Given the description of an element on the screen output the (x, y) to click on. 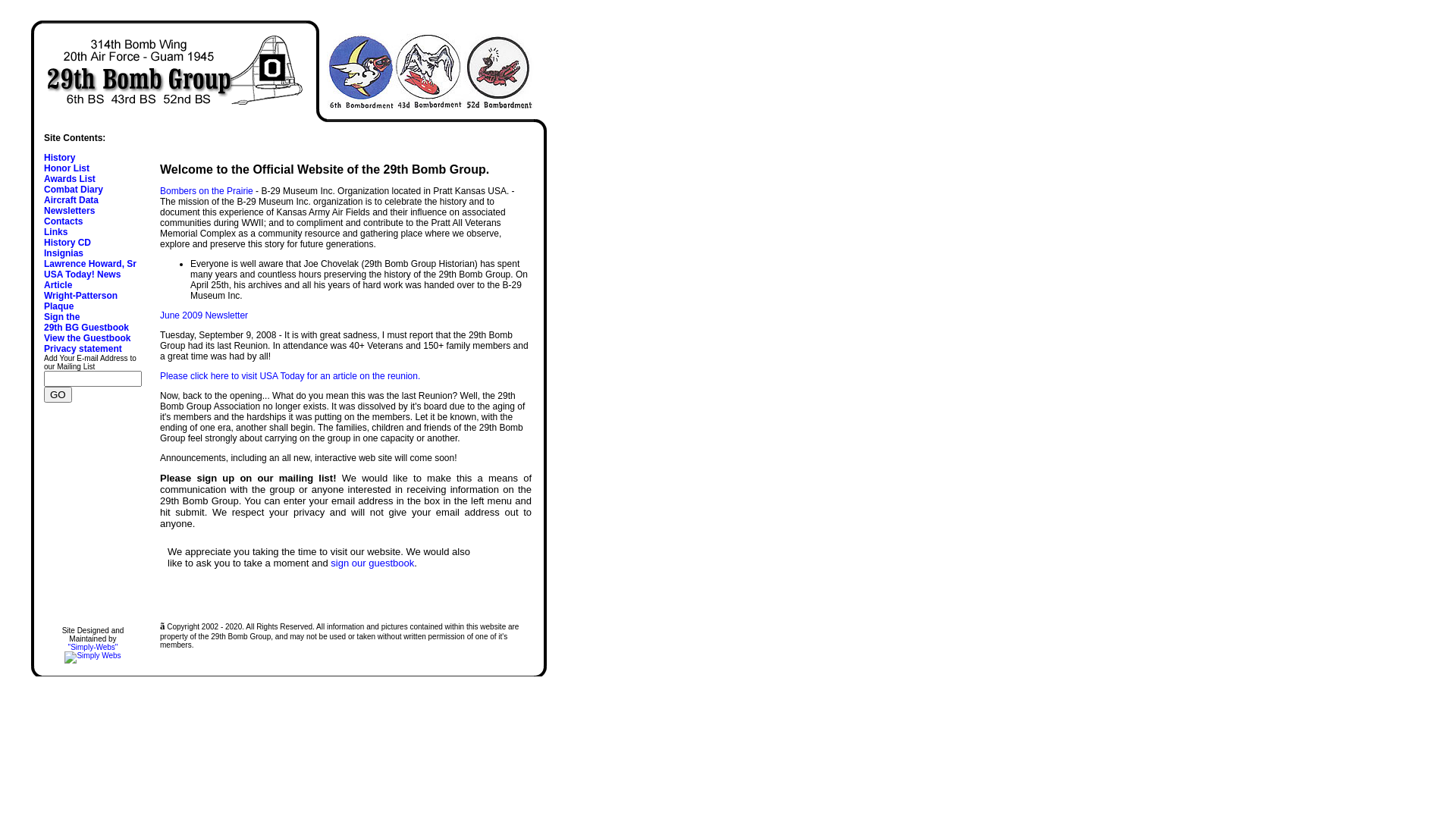
Aircraft Data Element type: text (70, 199)
"Simply-Webs" Element type: text (92, 651)
USA Today! News Article Element type: text (81, 279)
Privacy statement Element type: text (82, 348)
sign our guestbook Element type: text (372, 562)
Combat Diary Element type: text (73, 189)
Honor List Element type: text (66, 168)
View the Guestbook Element type: text (86, 337)
History CD Element type: text (67, 242)
Newsletters Element type: text (68, 210)
June 2009 Newsletter Element type: text (203, 315)
Lawrence Howard, Sr Element type: text (89, 263)
Contacts Element type: text (62, 221)
Wright-Patterson Plaque Element type: text (80, 300)
Bombers on the Prairie Element type: text (206, 190)
Awards List Element type: text (69, 178)
Insignias Element type: text (63, 252)
History Element type: text (59, 157)
Links Element type: text (55, 231)
GO Element type: text (57, 394)
Sign the
29th BG Guestbook Element type: text (85, 321)
